Given the description of an element on the screen output the (x, y) to click on. 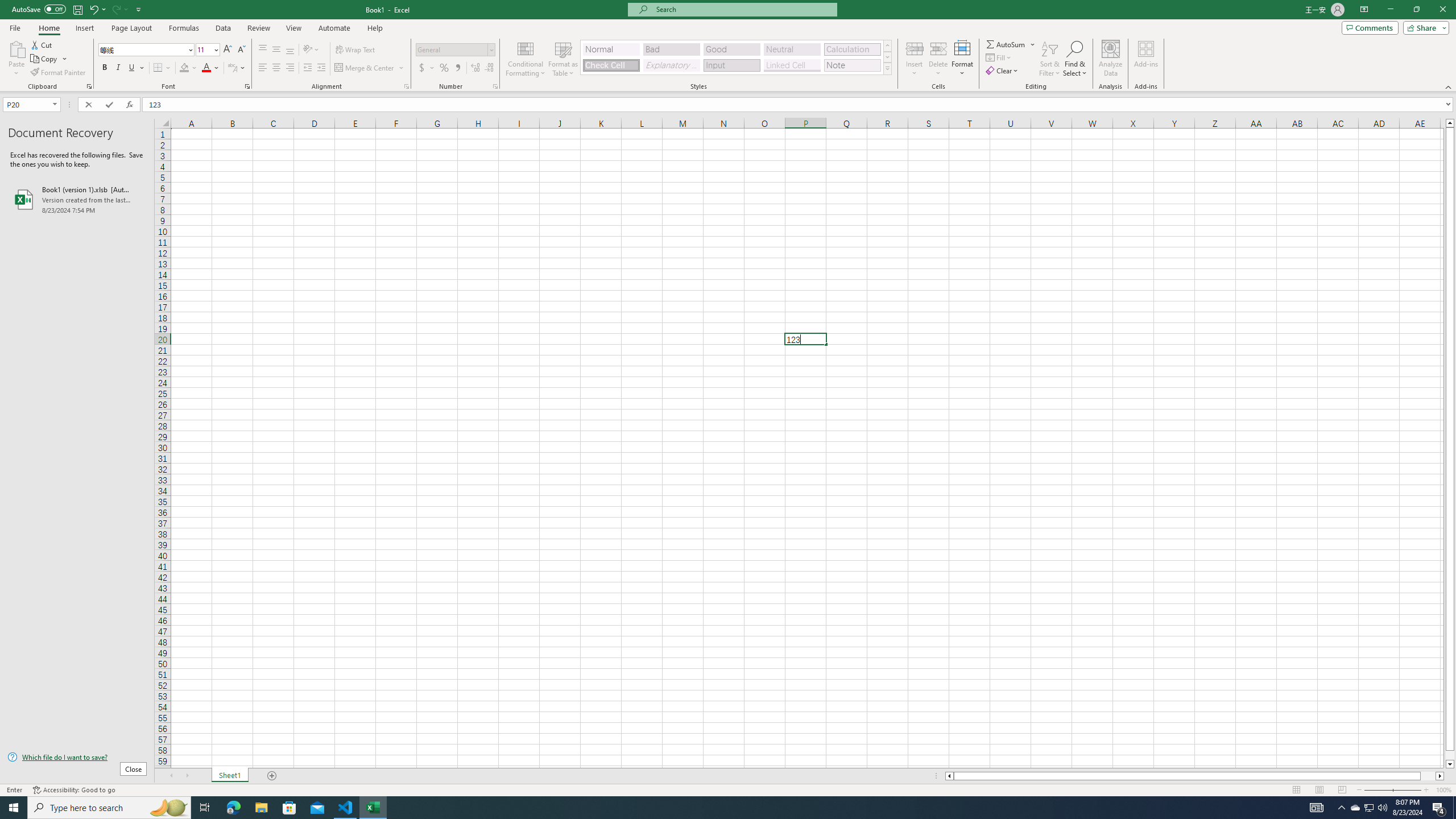
Center (276, 67)
Wrap Text (355, 49)
Format Painter (58, 72)
Align Left (262, 67)
AutoSum (1011, 44)
Font (147, 49)
Fill (999, 56)
